Given the description of an element on the screen output the (x, y) to click on. 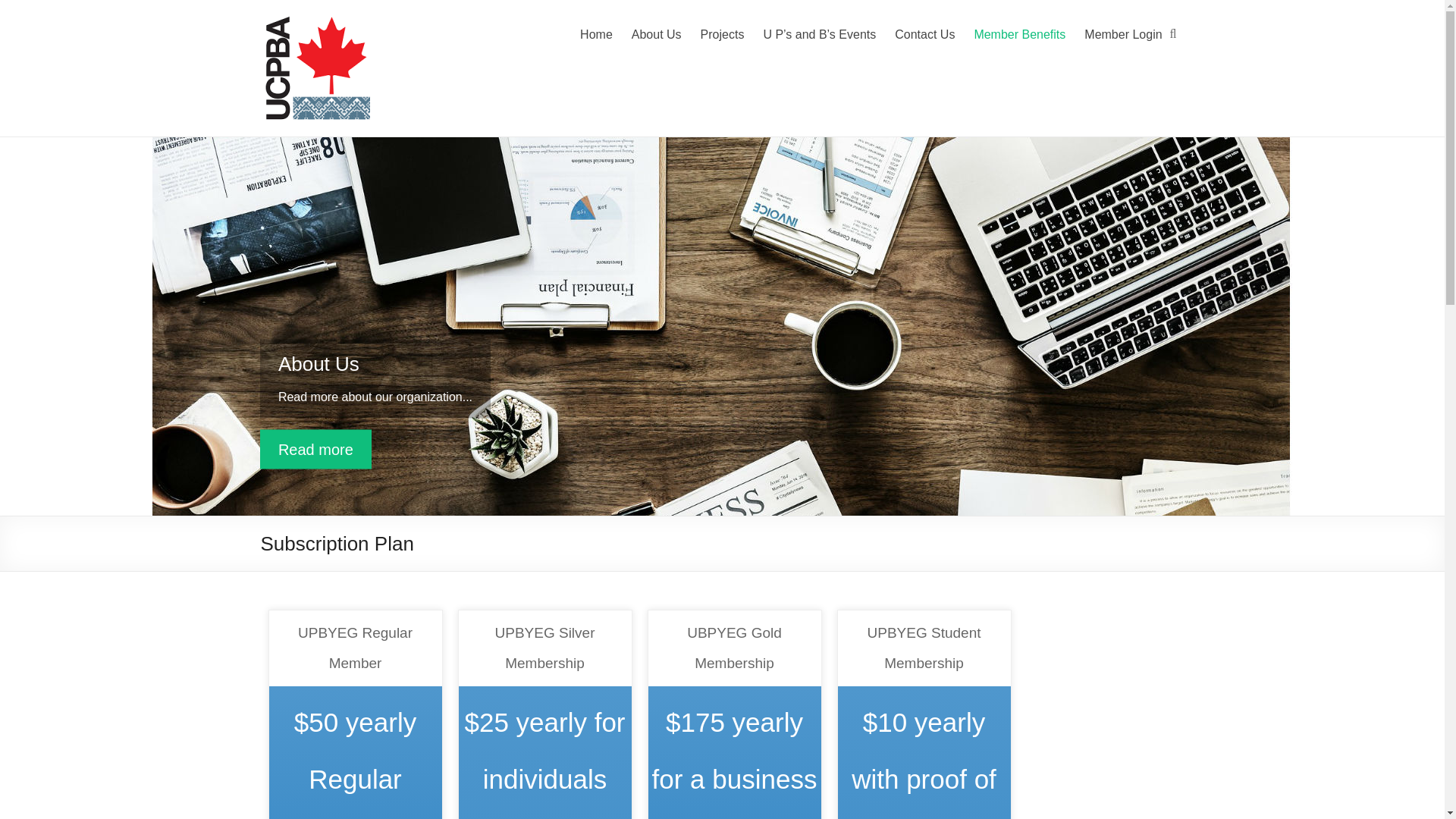
Member Benefits (1019, 34)
Member Login (1122, 34)
Read more (315, 448)
About Us (318, 363)
About Us (318, 363)
Contact Us (925, 34)
About Us (656, 34)
Projects (722, 34)
About Us (315, 448)
